Given the description of an element on the screen output the (x, y) to click on. 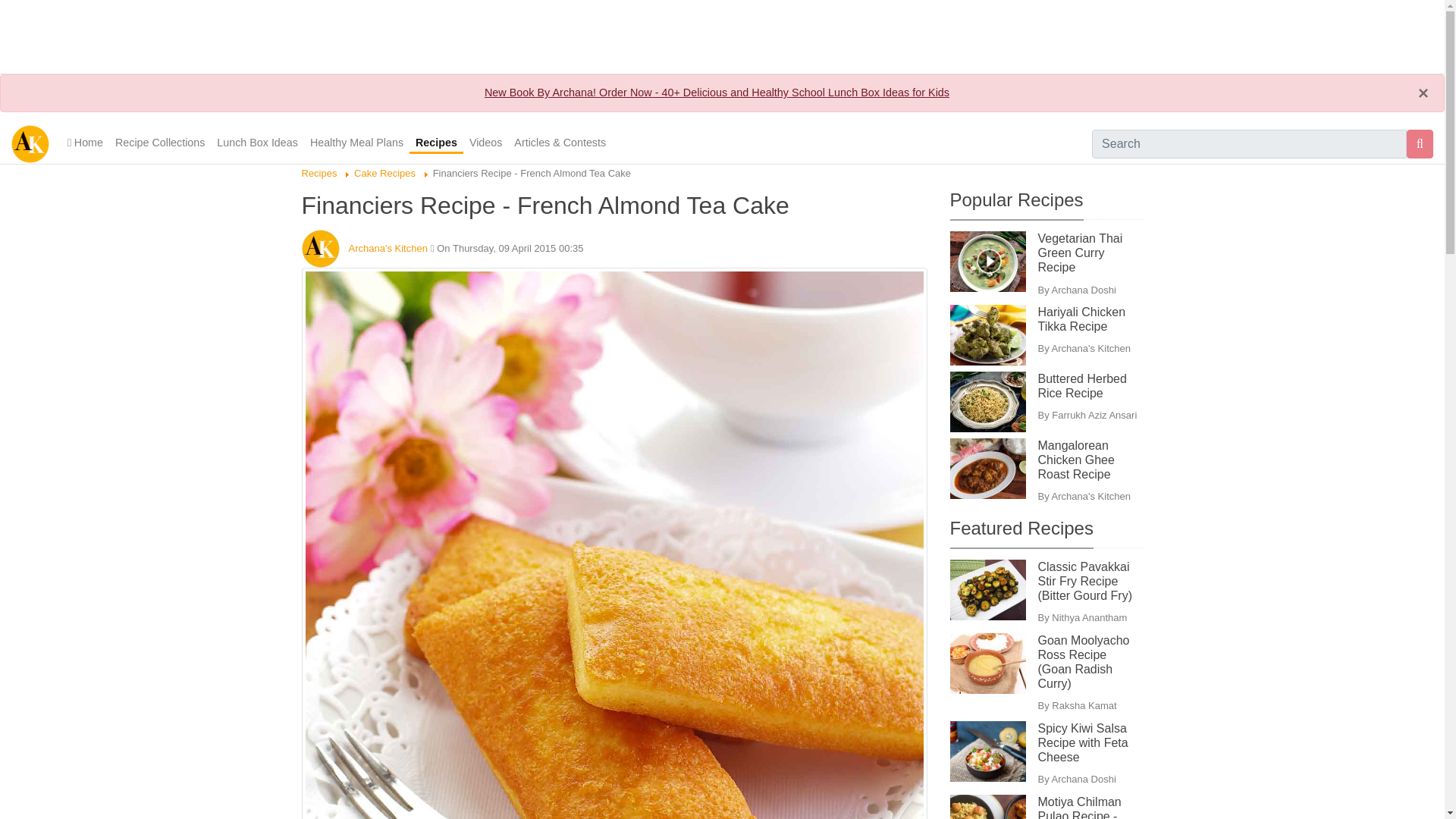
Hariyali Chicken Tikka Recipe  (1089, 328)
Archana's Kitchen (1091, 348)
Recipes (436, 143)
Cake Recipes (383, 173)
 Home (85, 142)
Vegetarian Thai Green Curry Recipe (1089, 262)
View Recipes by Archana's Kitchen (388, 247)
Recipes (319, 173)
Archana's Kitchen (388, 247)
Healthy Meal Plans (356, 142)
Recipe Collections (160, 142)
Lunch Box Ideas (257, 142)
Videos (485, 142)
Archana Doshi (1083, 289)
Advertisement (721, 33)
